Given the description of an element on the screen output the (x, y) to click on. 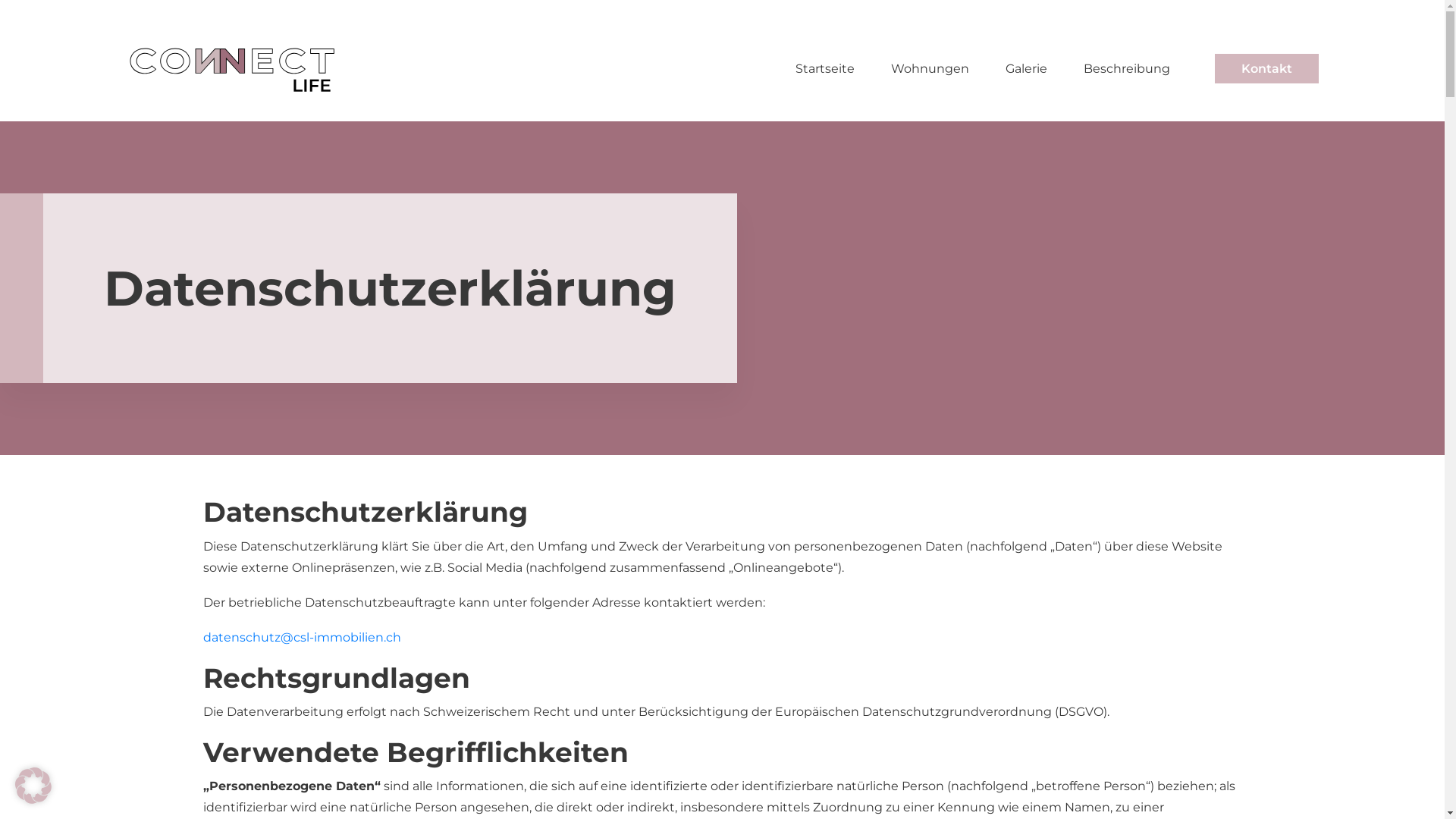
Wohnungen Element type: text (929, 68)
Kontakt Element type: text (1266, 68)
Startseite Element type: text (824, 68)
Beschreibung Element type: text (1126, 68)
Galerie Element type: text (1026, 68)
datenschutz@csl-immobilien.ch Element type: text (302, 637)
